Given the description of an element on the screen output the (x, y) to click on. 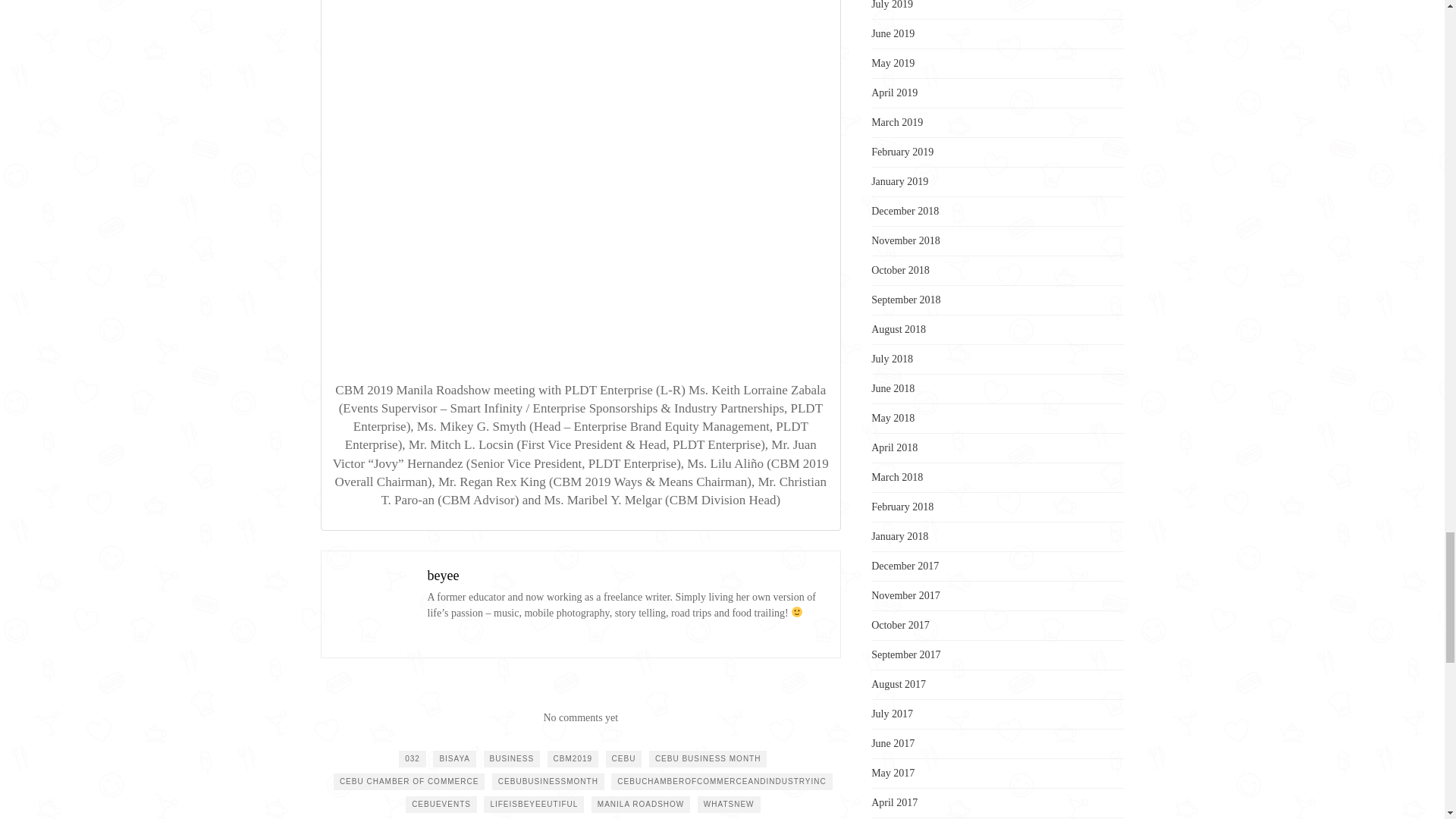
CEBU (623, 759)
CEBUEVENTS (441, 804)
MANILA ROADSHOW (640, 804)
BISAYA (454, 759)
032 (412, 759)
LIFEISBEYEEUTIFUL (533, 804)
CEBU BUSINESS MONTH (708, 759)
CEBUBUSINESSMONTH (548, 781)
CBM2019 (572, 759)
WHATSNEW (728, 804)
No comments yet (580, 717)
CEBUCHAMBEROFCOMMERCEANDINDUSTRYINC (721, 781)
BUSINESS (511, 759)
beyee (444, 575)
CEBU CHAMBER OF COMMERCE (408, 781)
